Given the description of an element on the screen output the (x, y) to click on. 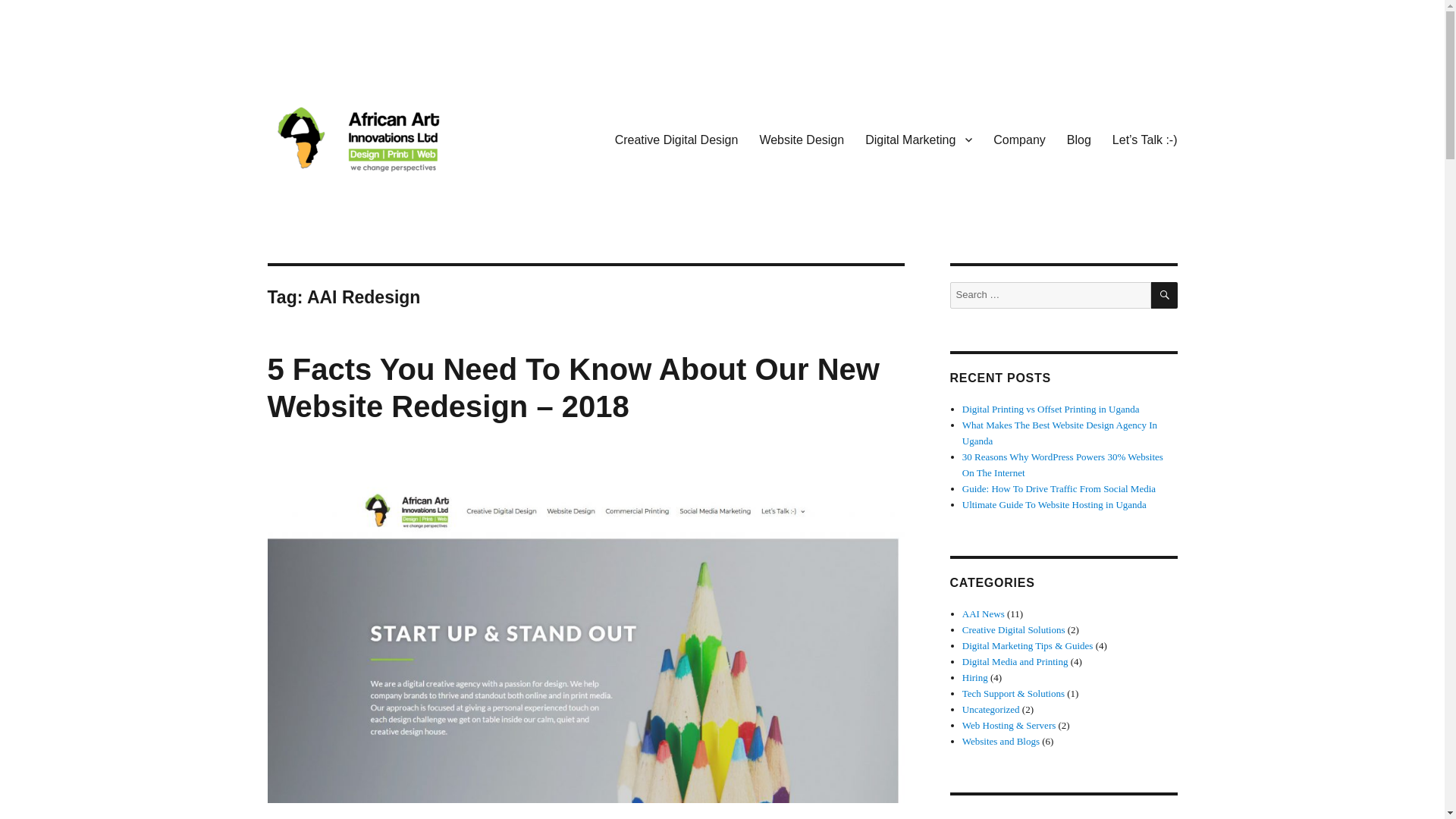
Website Design (801, 139)
African Art Innovations Ltd (403, 201)
Blog (1079, 139)
SEARCH (1164, 294)
Company (1018, 139)
Digital Marketing (918, 139)
Digital Printing vs Offset Printing in Uganda (1051, 408)
What Makes The Best Website Design Agency In Uganda (1059, 432)
Creative Digital Design (676, 139)
